Given the description of an element on the screen output the (x, y) to click on. 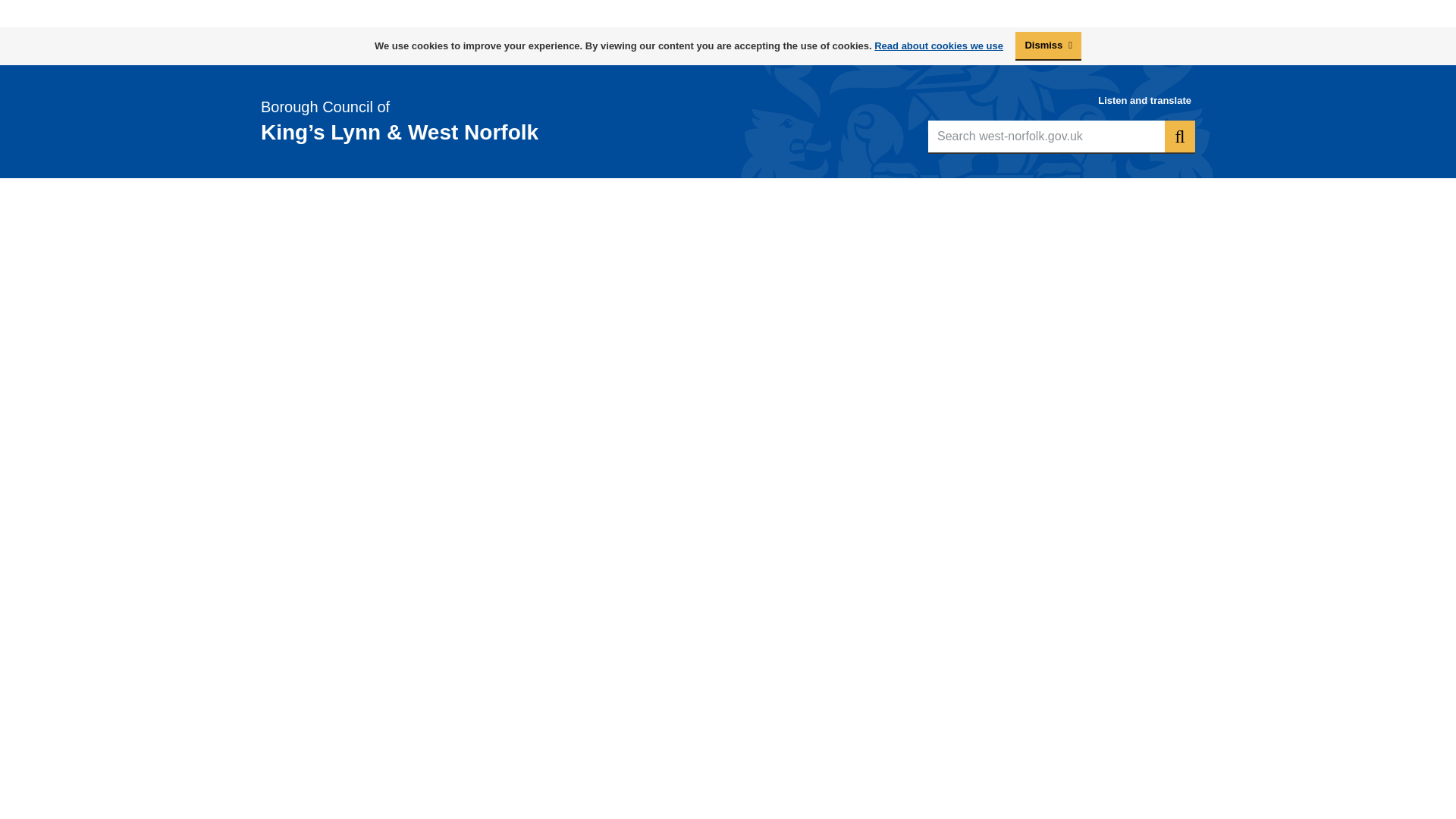
Dismiss (1047, 45)
Search (1179, 136)
Listen with ReciteMe (57, 8)
Read about cookies we use (939, 46)
Listen with ReciteMe (1144, 99)
Listen and translate (57, 8)
Listen and translate (1144, 99)
